Given the description of an element on the screen output the (x, y) to click on. 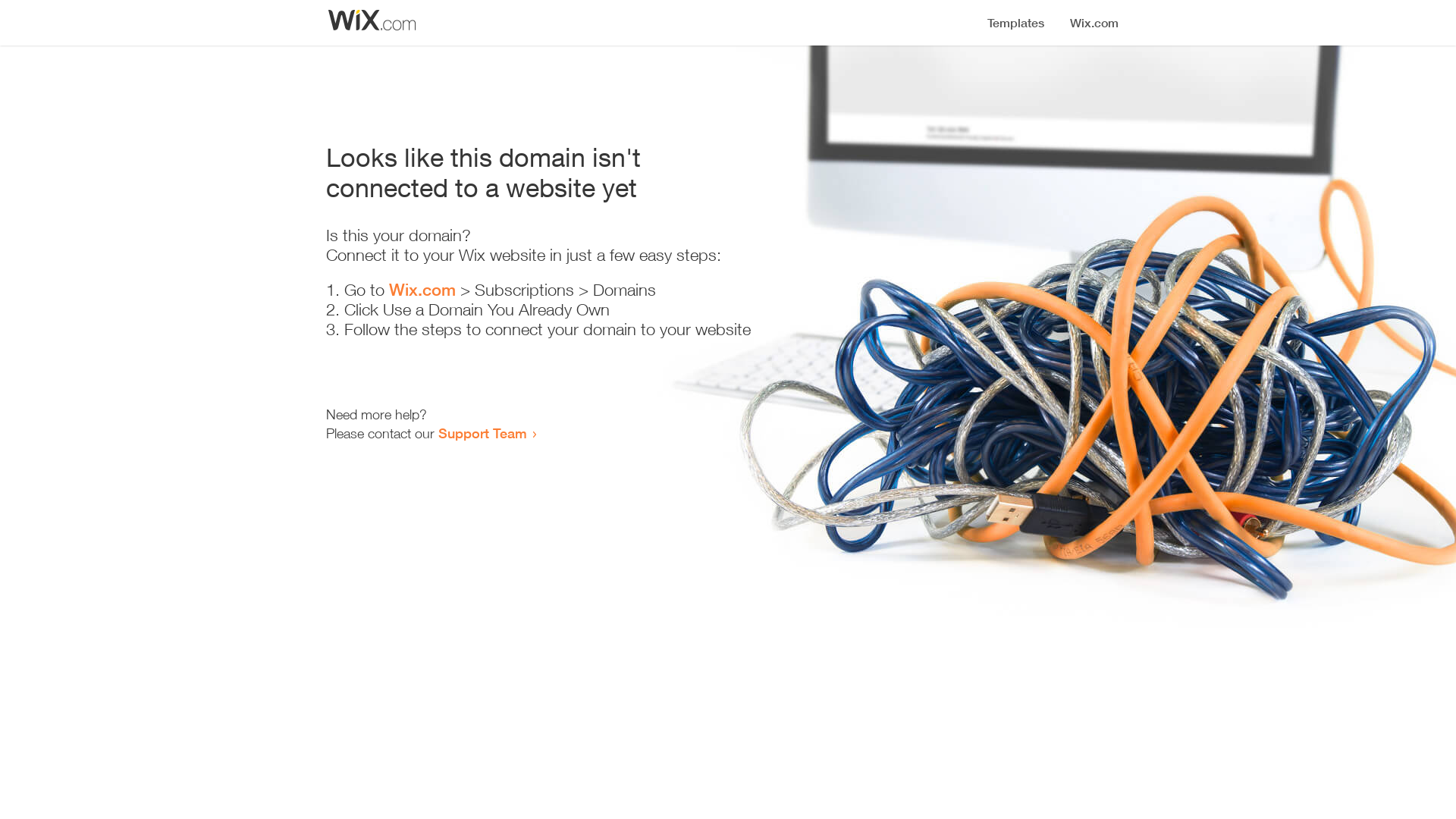
Wix.com Element type: text (422, 289)
Support Team Element type: text (482, 432)
